Given the description of an element on the screen output the (x, y) to click on. 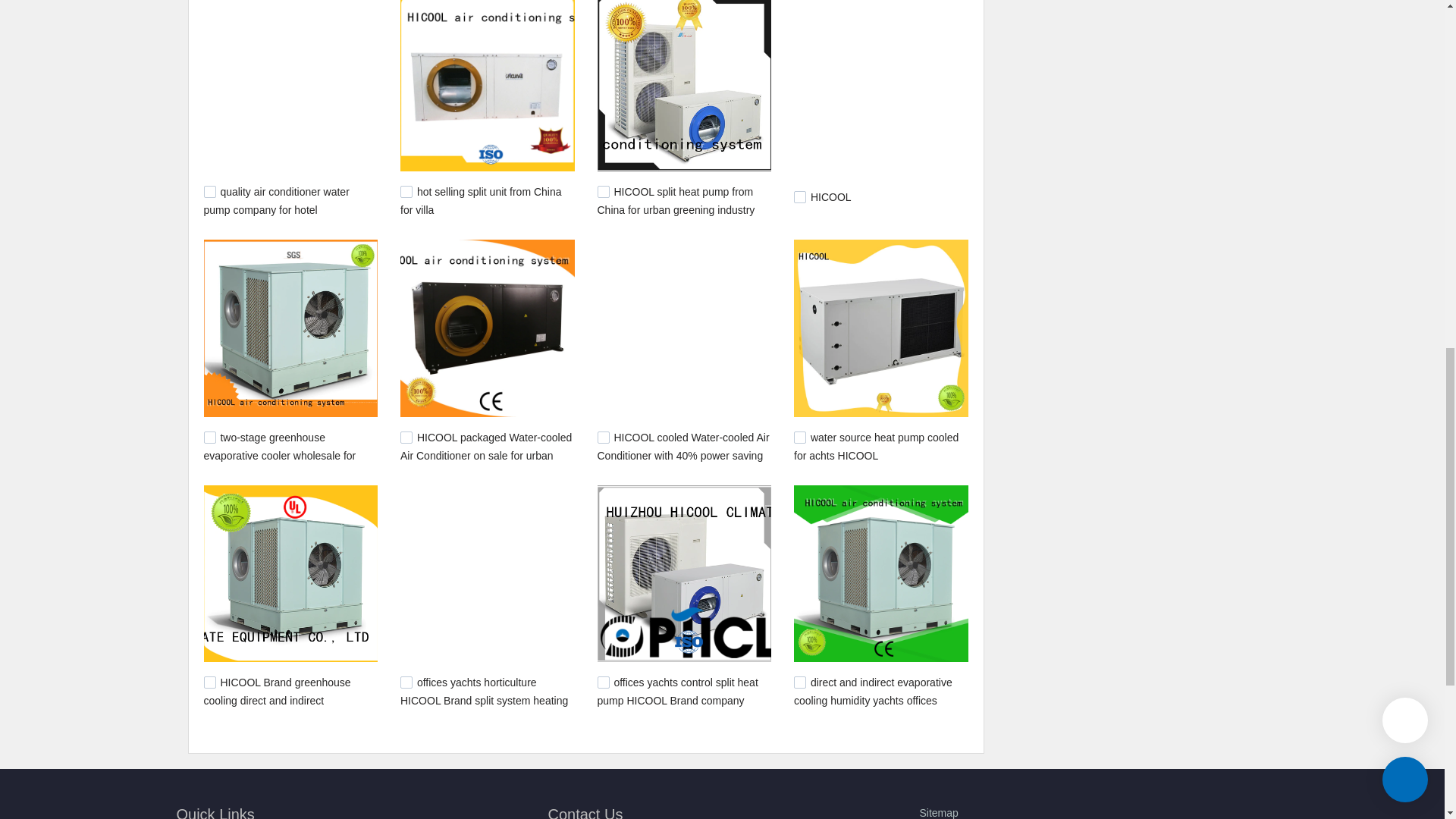
5707 (799, 196)
5562 (406, 437)
hot selling split unit from China for villa (481, 200)
680 (406, 682)
653 (603, 682)
HICOOL (830, 196)
quality air conditioner water pump company for hotel (276, 200)
642 (799, 682)
